Given the description of an element on the screen output the (x, y) to click on. 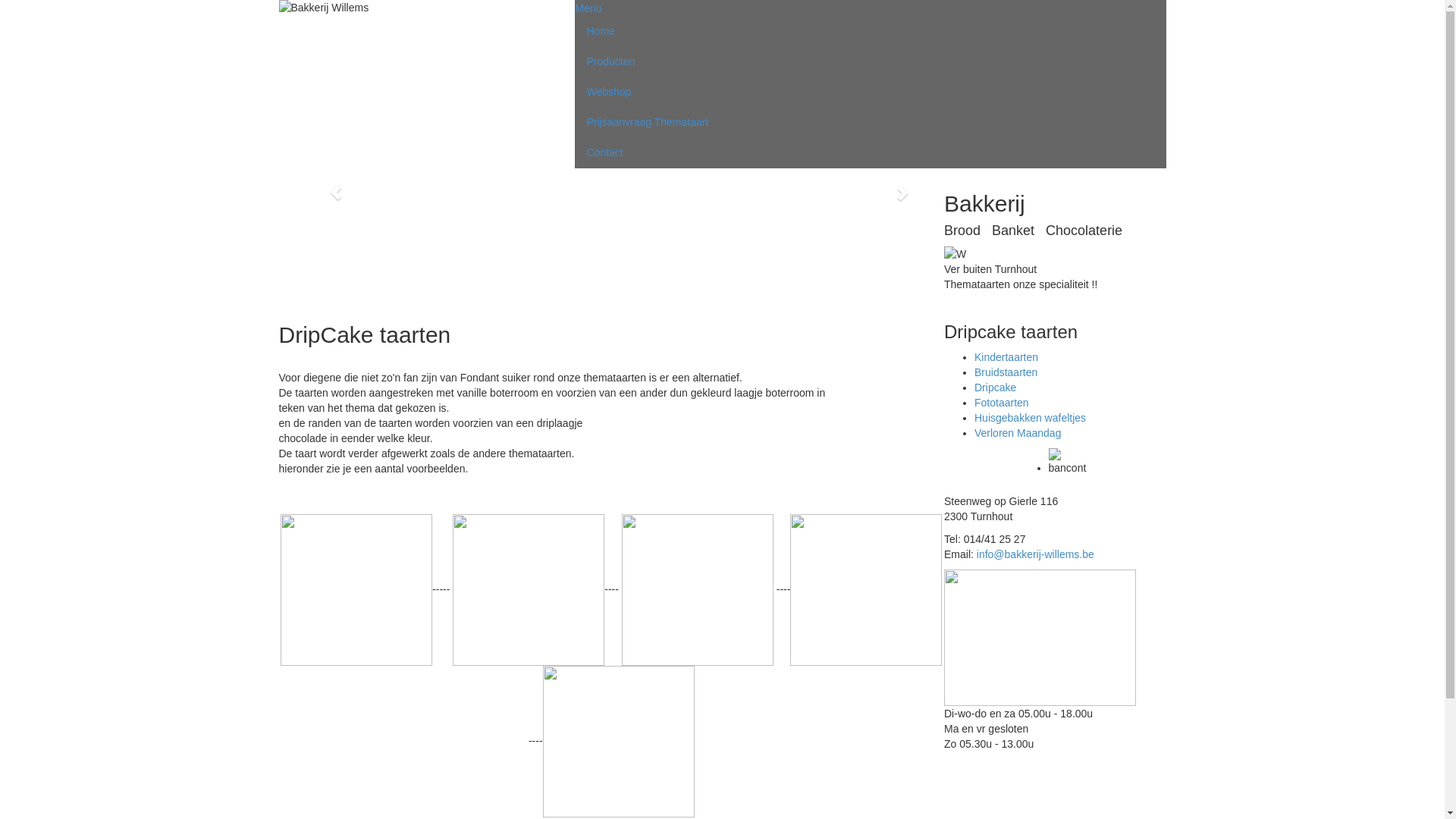
Dripcake Element type: text (995, 387)
info@bakkerij-willems.be Element type: text (1035, 554)
Webshop Element type: text (869, 91)
Producten Element type: text (869, 61)
Home Element type: text (869, 30)
Prijsaanvraag Themataart Element type: text (869, 121)
Contact Element type: text (869, 152)
Bruidstaarten Element type: text (1005, 372)
Kindertaarten Element type: text (1006, 357)
Verloren Maandag Element type: text (1017, 432)
Huisgebakken wafeltjes Element type: text (1029, 417)
Fototaarten Element type: text (1001, 402)
Menu Element type: text (587, 8)
